Given the description of an element on the screen output the (x, y) to click on. 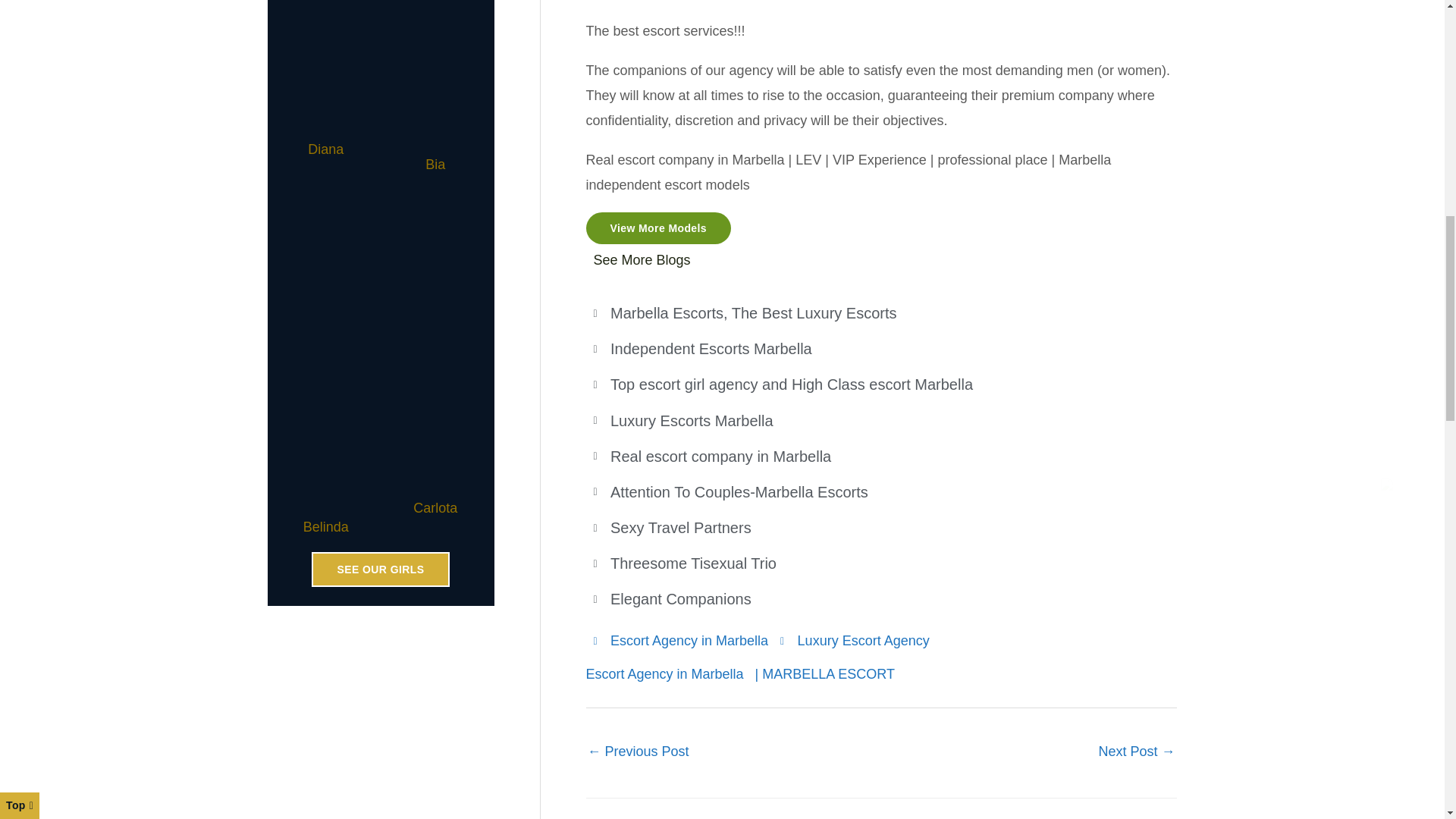
Luxury Escorts Marbella (1135, 753)
Attention To Couples-Marbella Escorts (637, 753)
